Given the description of an element on the screen output the (x, y) to click on. 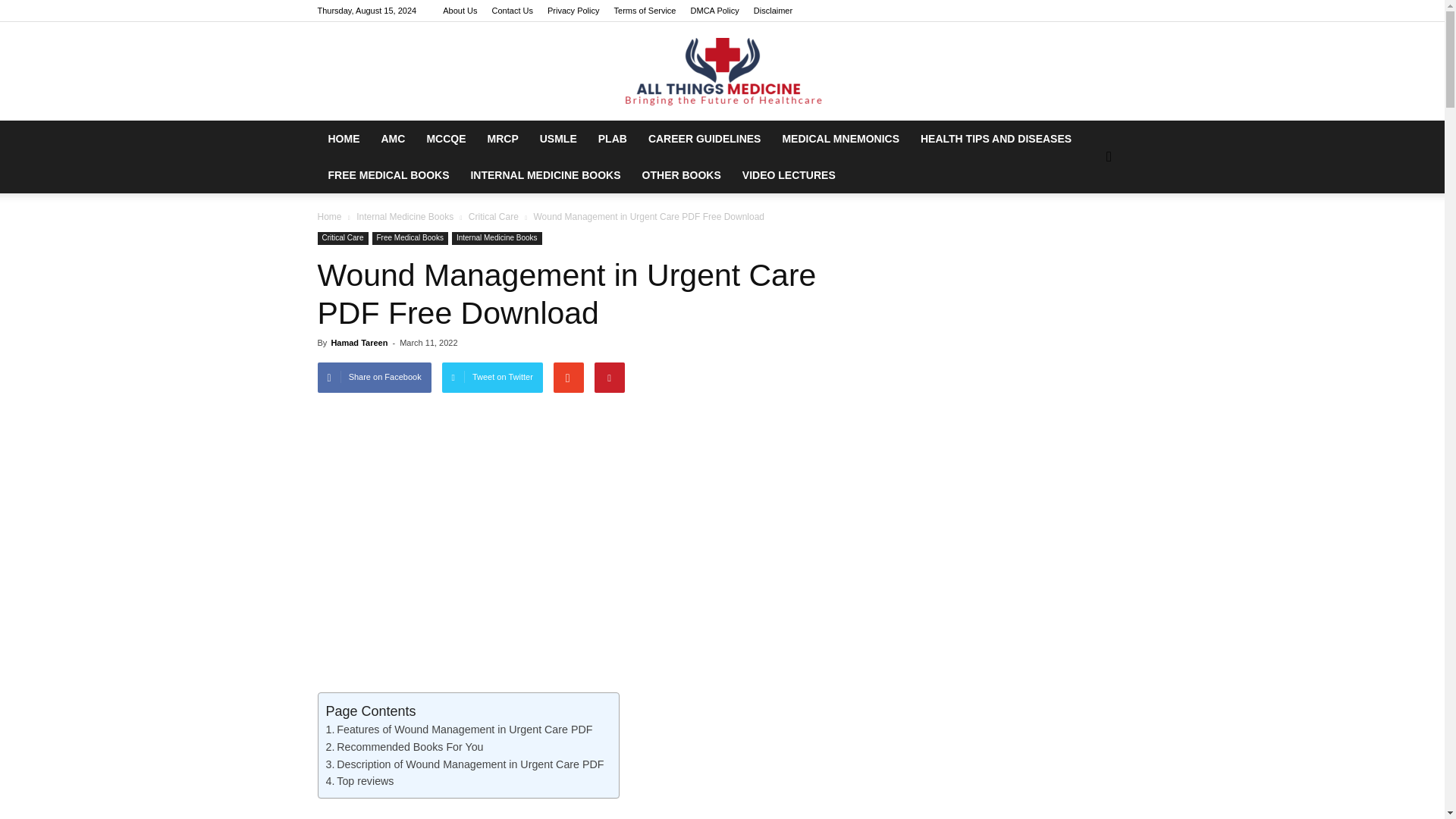
Features of Wound Management in Urgent Care PDF (459, 729)
View all posts in Critical Care (493, 216)
View all posts in Internal Medicine Books (404, 216)
Recommended Books For You (404, 746)
Top reviews (360, 781)
Description of Wound Management in Urgent Care PDF (465, 764)
